Given the description of an element on the screen output the (x, y) to click on. 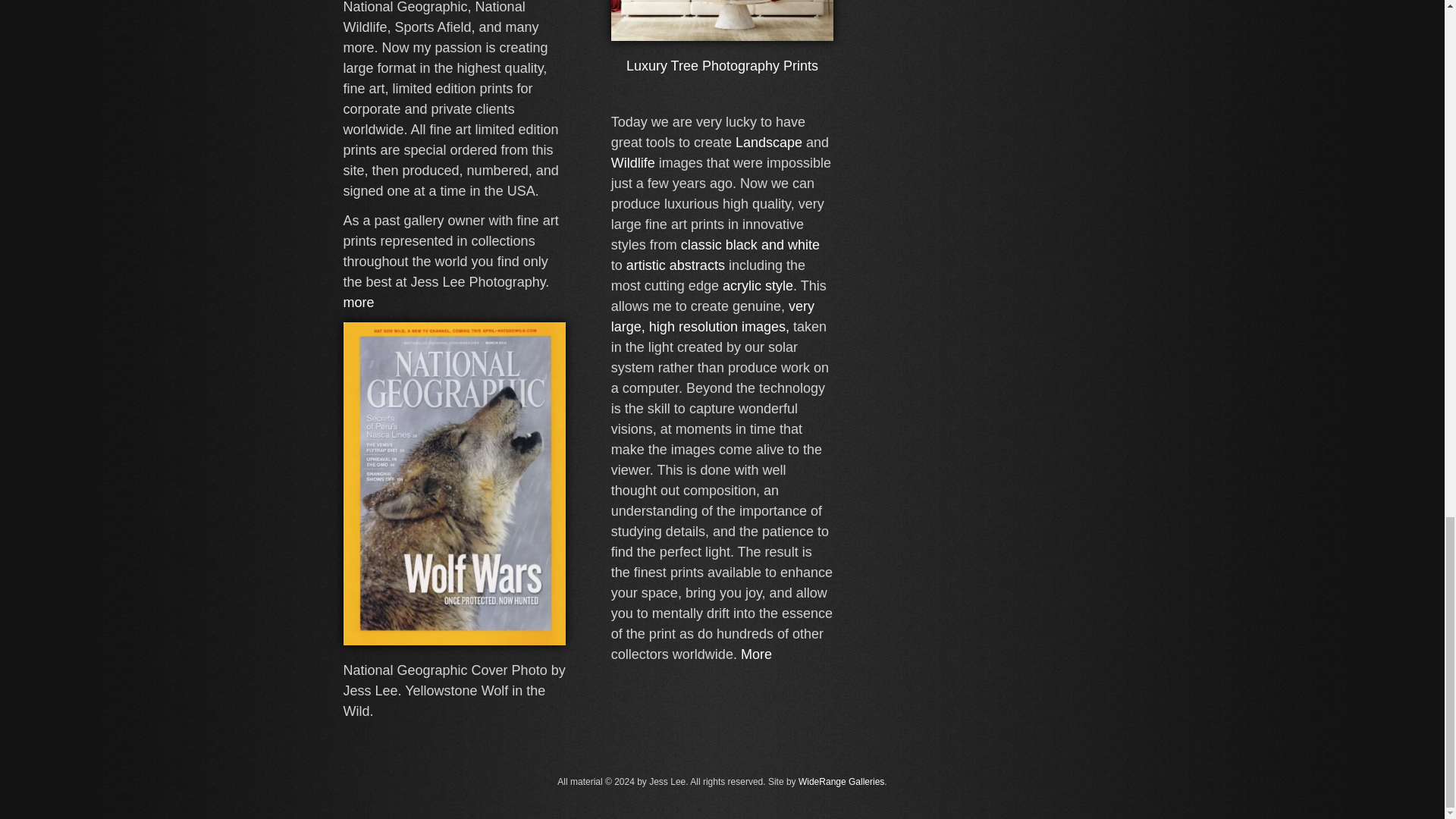
artistic abstracts (675, 264)
WideRange Galleries (840, 781)
Wildlife (633, 162)
Luxury Tree Photography Prints (722, 65)
classic black and white (750, 244)
More (756, 654)
acrylic style (757, 285)
more (358, 302)
Landscape (768, 142)
very large, high resolution images, (712, 316)
